Given the description of an element on the screen output the (x, y) to click on. 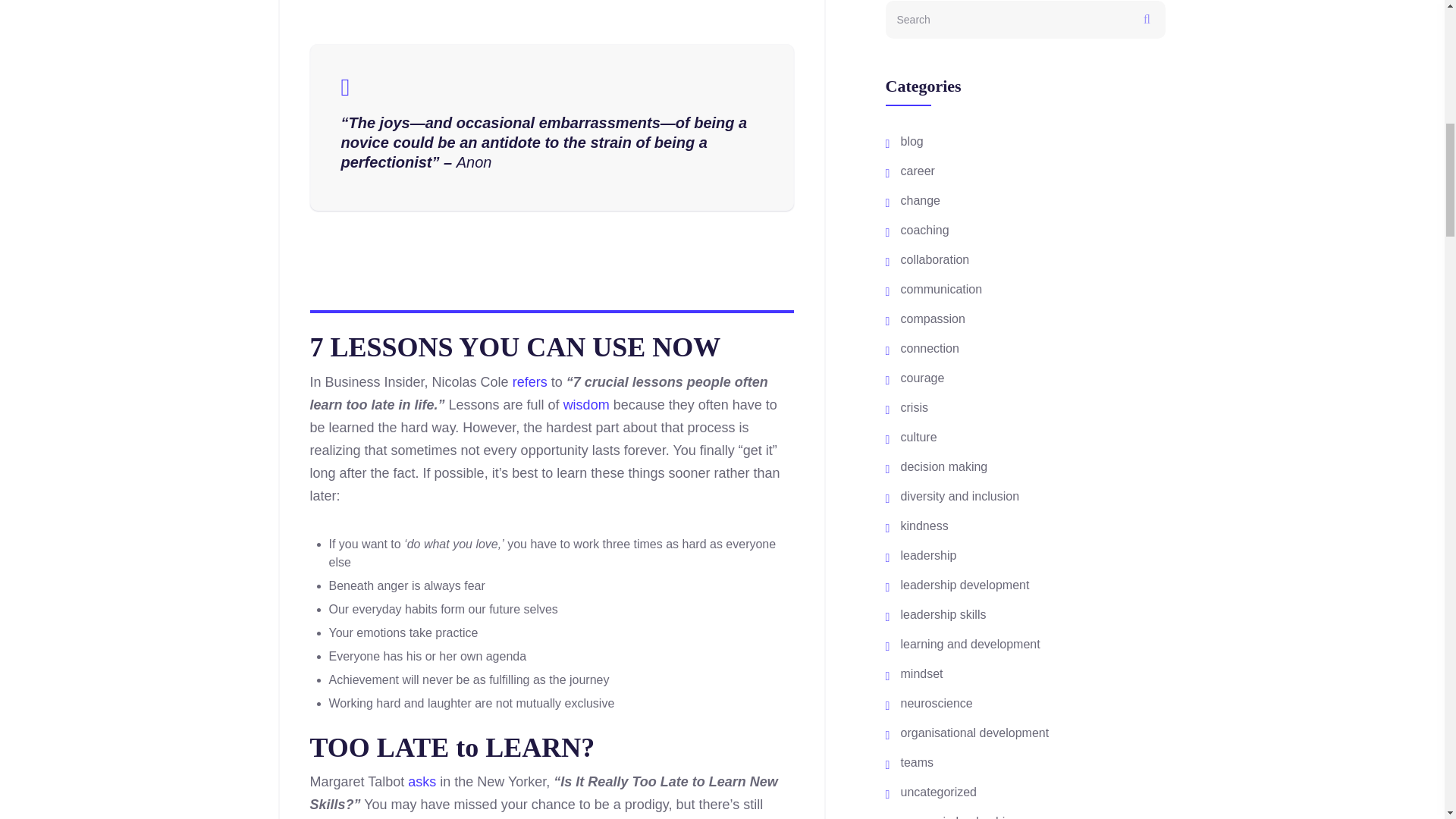
wisdom (586, 404)
asks (421, 781)
refers (529, 381)
